Given the description of an element on the screen output the (x, y) to click on. 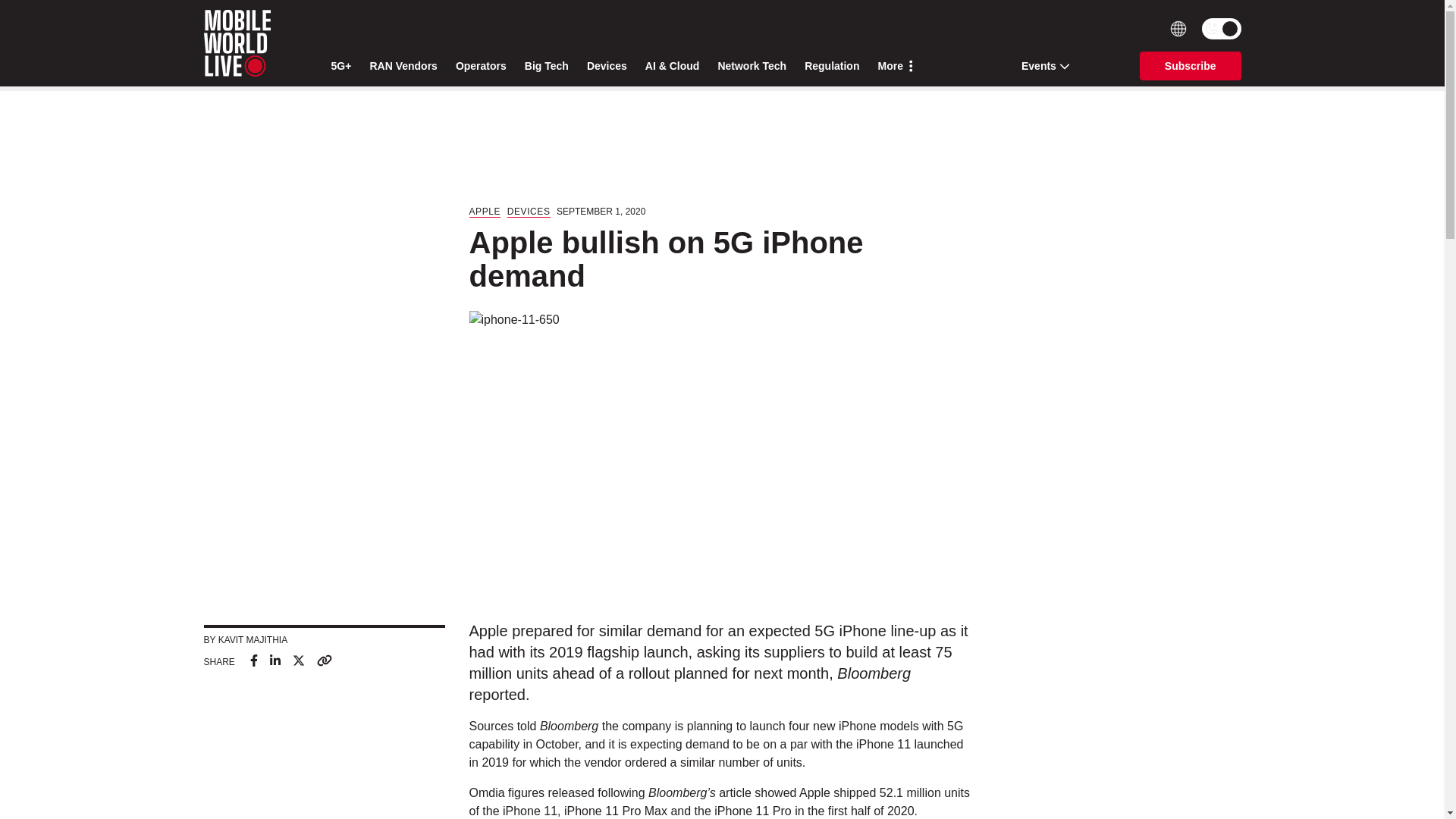
Operators (480, 65)
Subscribe (1190, 65)
RAN Vendors (402, 65)
Network Tech (751, 65)
Big Tech (546, 65)
Devices (606, 65)
Regulation (832, 65)
Events (1040, 65)
